Given the description of an element on the screen output the (x, y) to click on. 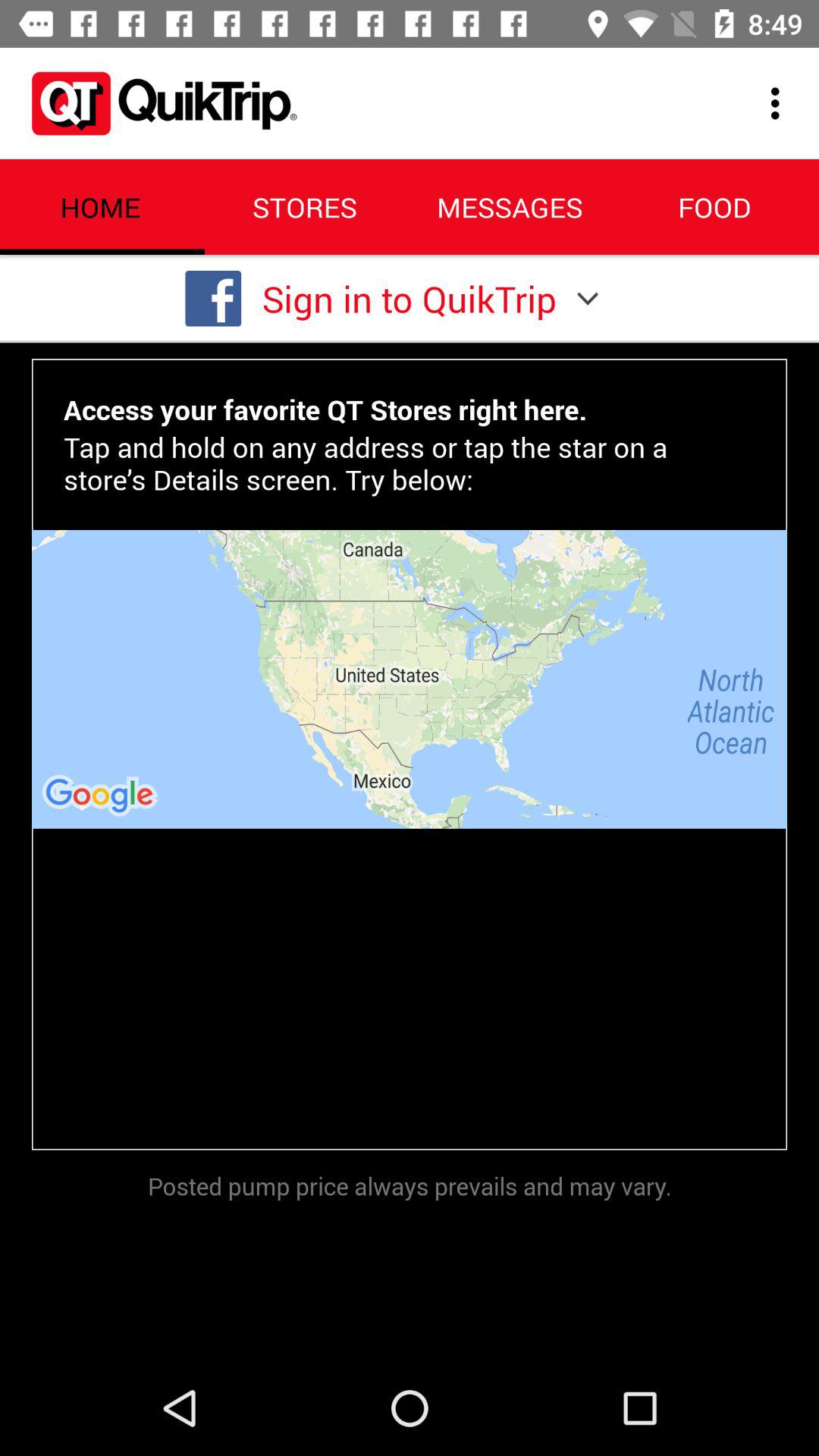
turn off the item next to the messages item (779, 103)
